Given the description of an element on the screen output the (x, y) to click on. 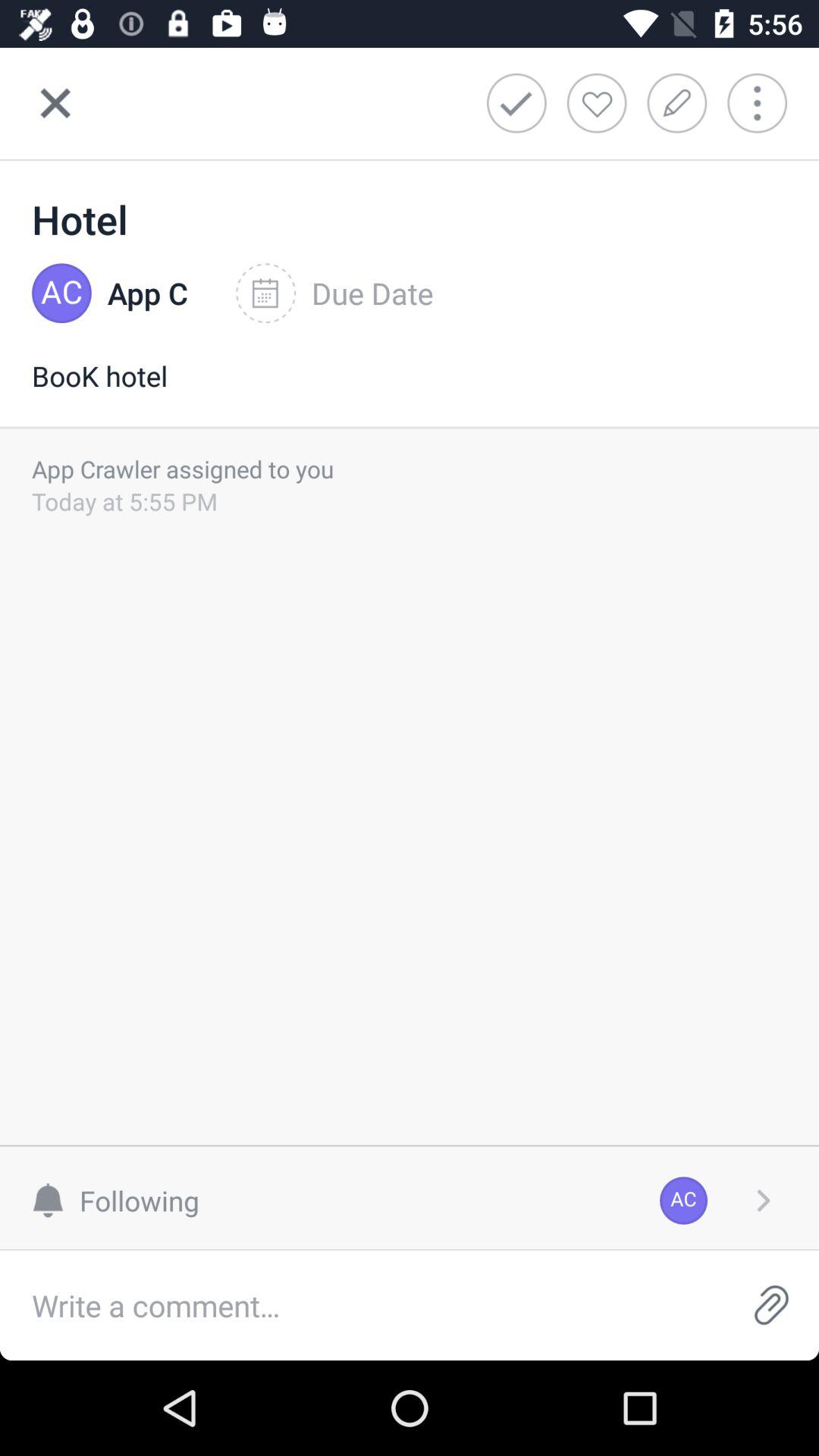
choose due date (334, 293)
